Given the description of an element on the screen output the (x, y) to click on. 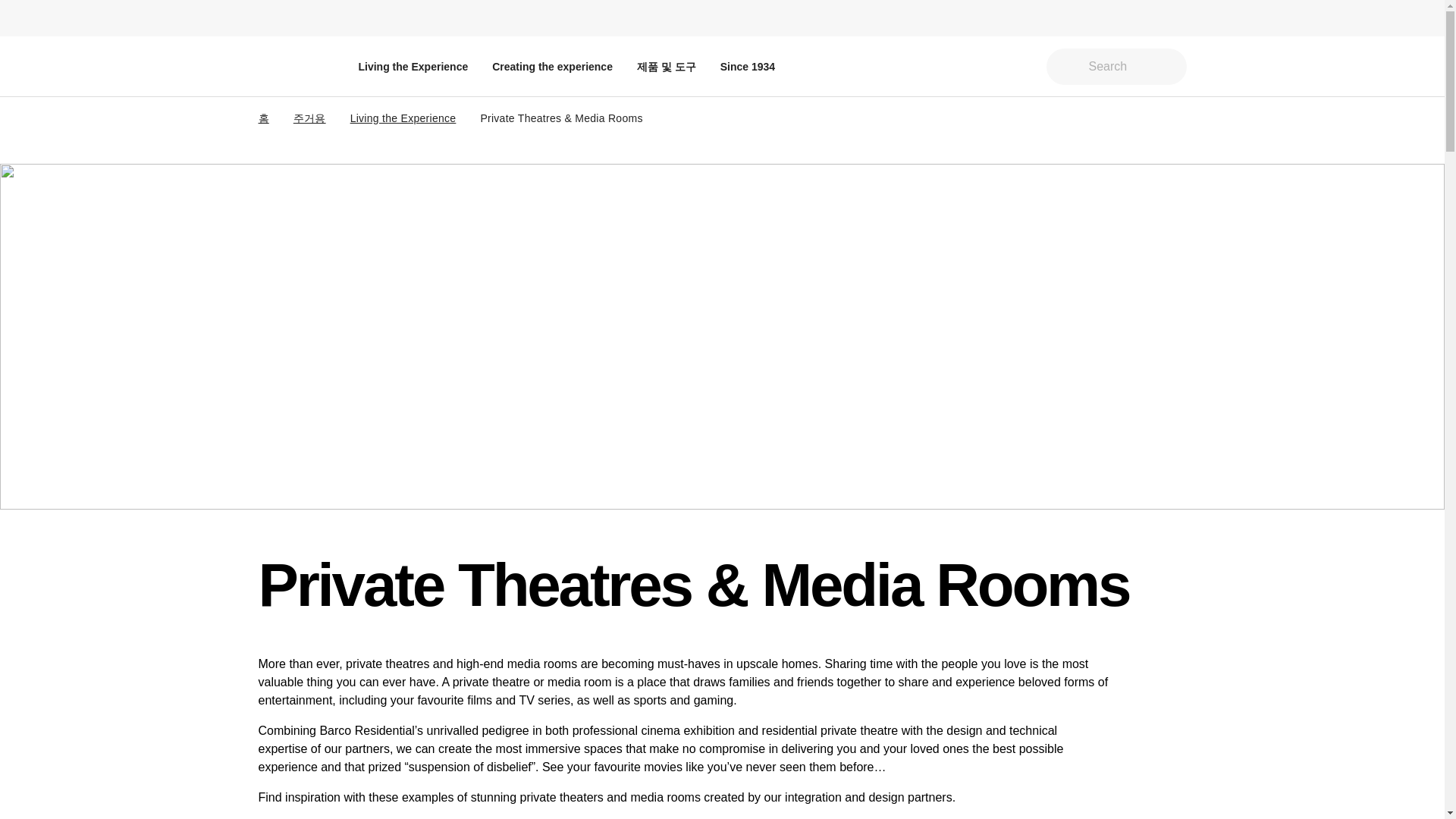
Since 1934 (747, 66)
Living the Experience (412, 66)
Creating the experience (552, 66)
